Given the description of an element on the screen output the (x, y) to click on. 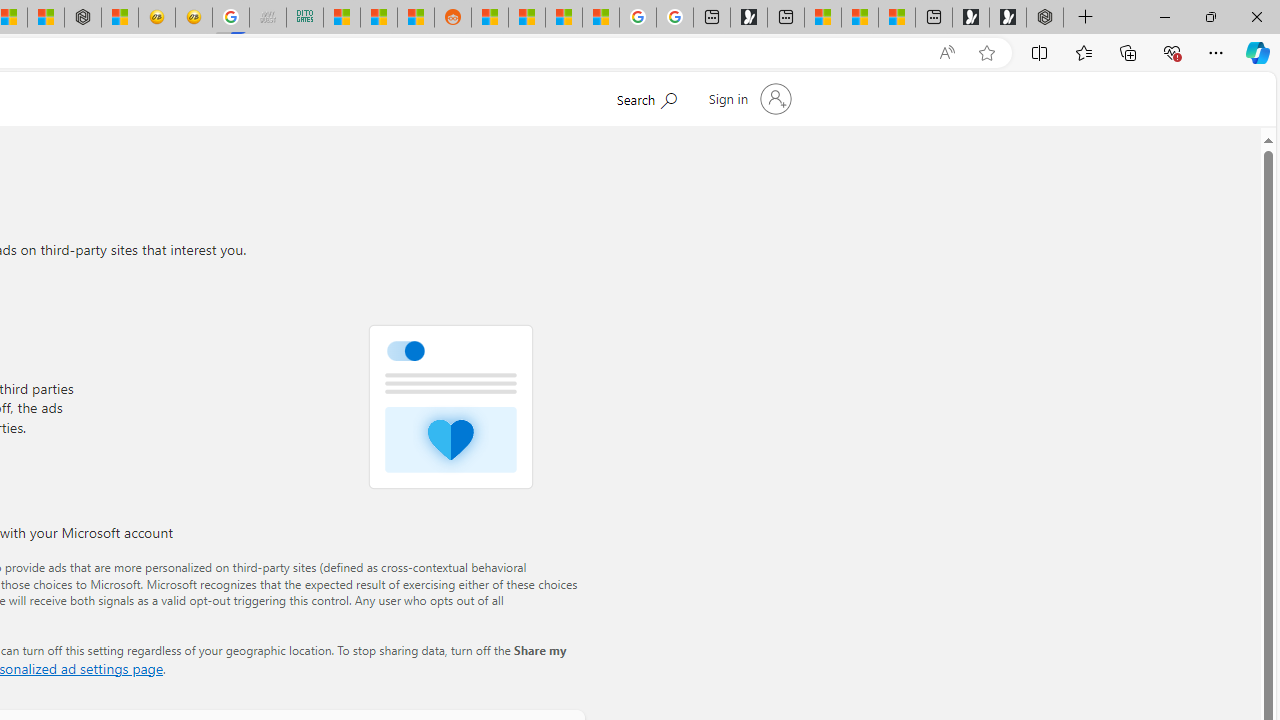
Sign in to your account (748, 98)
MSNBC - MSN (341, 17)
MSN (415, 17)
Microsoft Start Gaming (748, 17)
Navy Quest (267, 17)
Nordace - #1 Japanese Best-Seller - Siena Smart Backpack (83, 17)
